Given the description of an element on the screen output the (x, y) to click on. 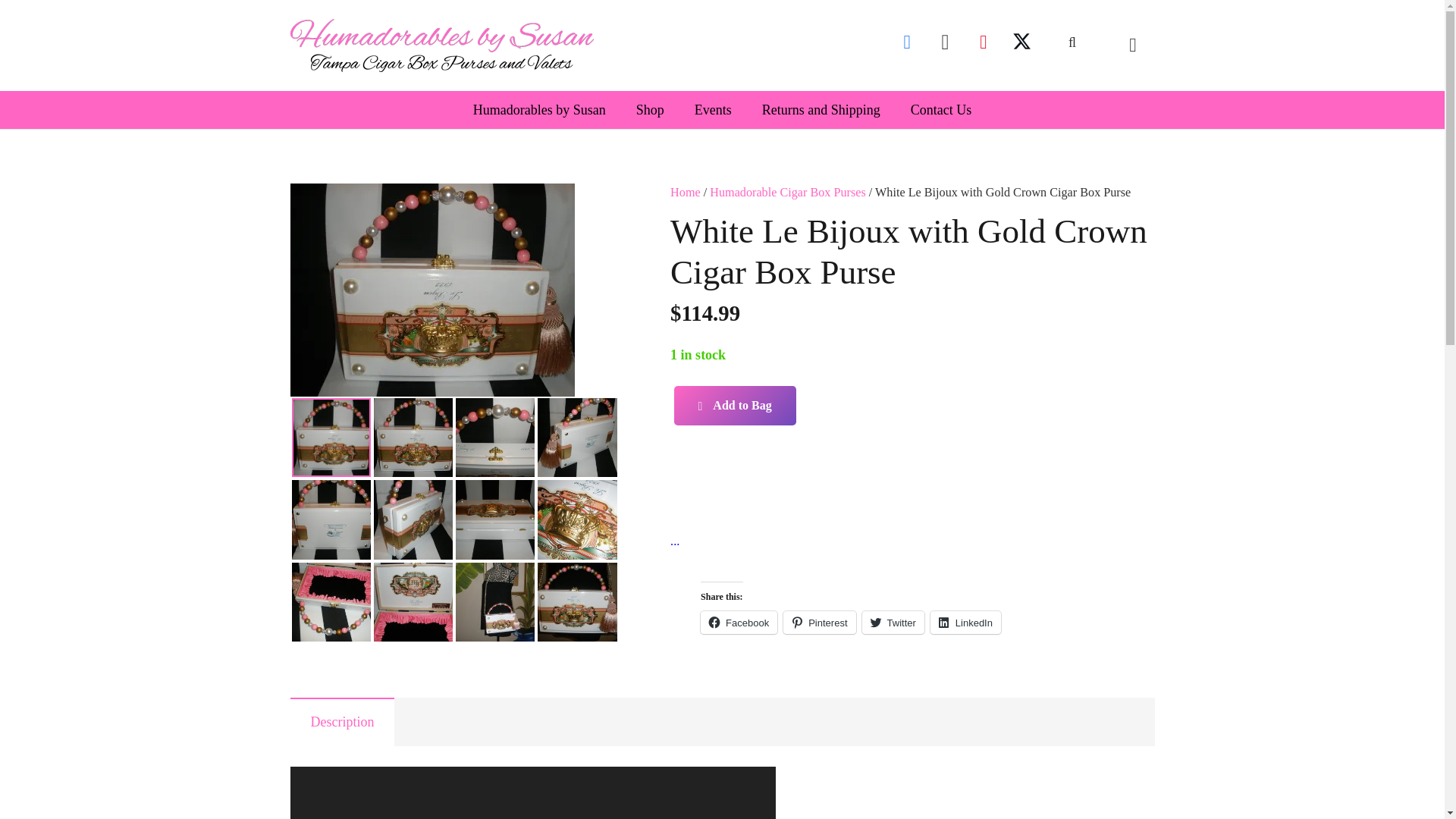
Contact Us (941, 109)
P1220063 (431, 289)
Instagram (944, 42)
Home (684, 192)
Returns and Shipping (820, 109)
Humadorables by Susan (539, 109)
Humadorable Cigar Box Purses (787, 192)
0 (1132, 44)
Pinterest (983, 42)
Events (712, 109)
Facebook (907, 42)
Add to Bag (735, 405)
Twitter (1022, 42)
Shop (650, 109)
